Given the description of an element on the screen output the (x, y) to click on. 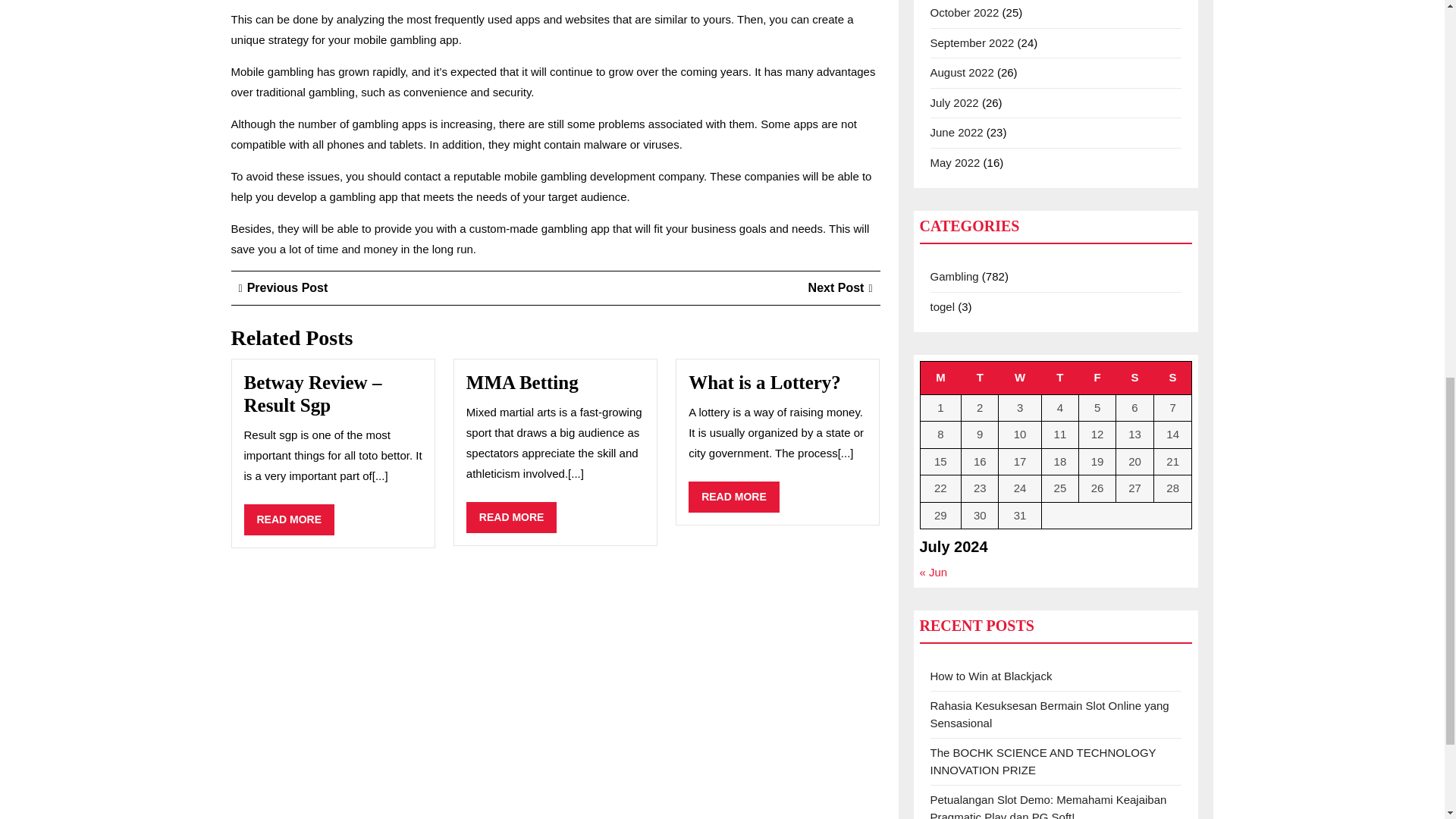
Thursday (733, 496)
Tuesday (1059, 377)
What is a Lottery? (979, 377)
Sunday (282, 287)
Saturday (764, 382)
Monday (289, 519)
MMA Betting (1172, 377)
Friday (1135, 377)
Wednesday (940, 377)
